Given the description of an element on the screen output the (x, y) to click on. 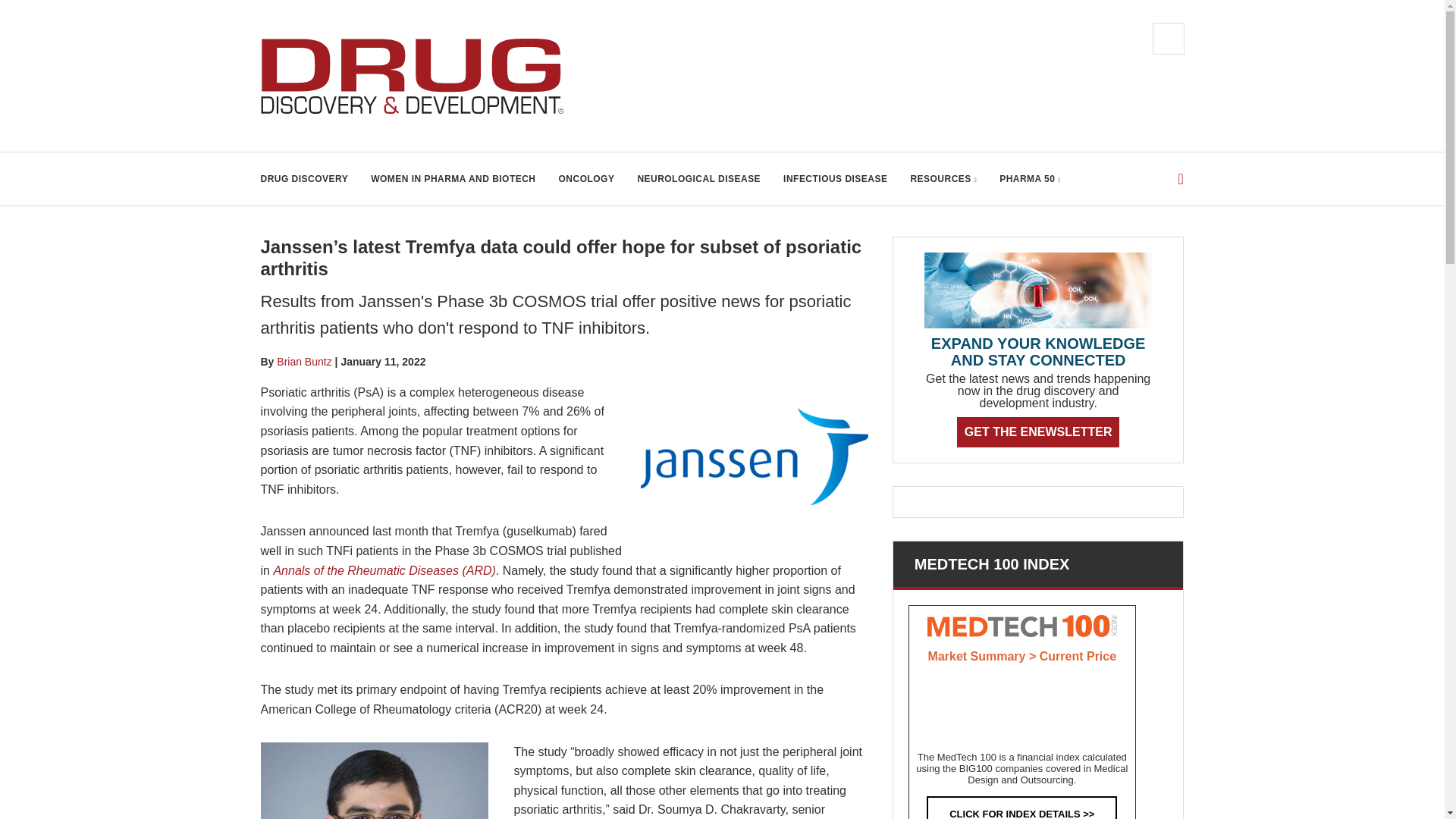
DRUG DISCOVERY (304, 178)
Brian Buntz (303, 361)
PHARMA 50 (1029, 178)
WOMEN IN PHARMA AND BIOTECH (453, 178)
Drug Discovery and Development (412, 75)
RESOURCES (943, 178)
ONCOLOGY (586, 178)
NEUROLOGICAL DISEASE (698, 178)
INFECTIOUS DISEASE (834, 178)
